Given the description of an element on the screen output the (x, y) to click on. 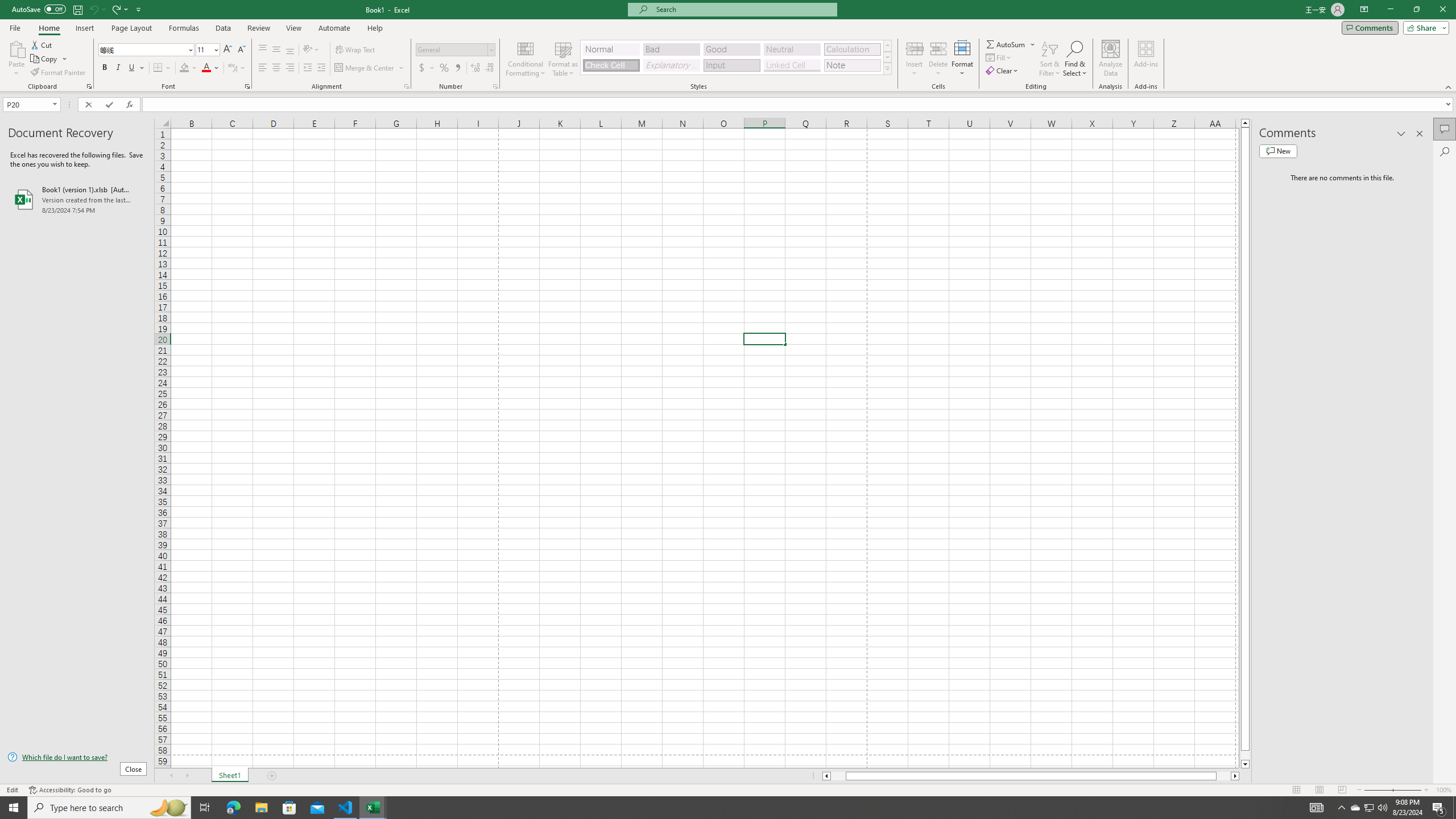
Orientation (311, 49)
Fill (999, 56)
Underline (131, 67)
Sort & Filter (1049, 58)
AutomationID: CellStylesGallery (736, 57)
